Given the description of an element on the screen output the (x, y) to click on. 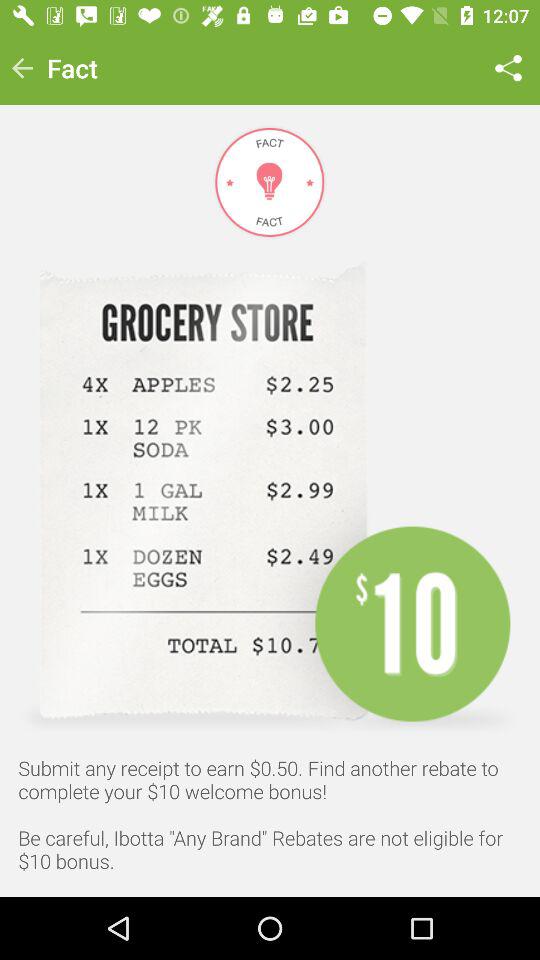
choose the icon to the left of fact icon (22, 67)
